Given the description of an element on the screen output the (x, y) to click on. 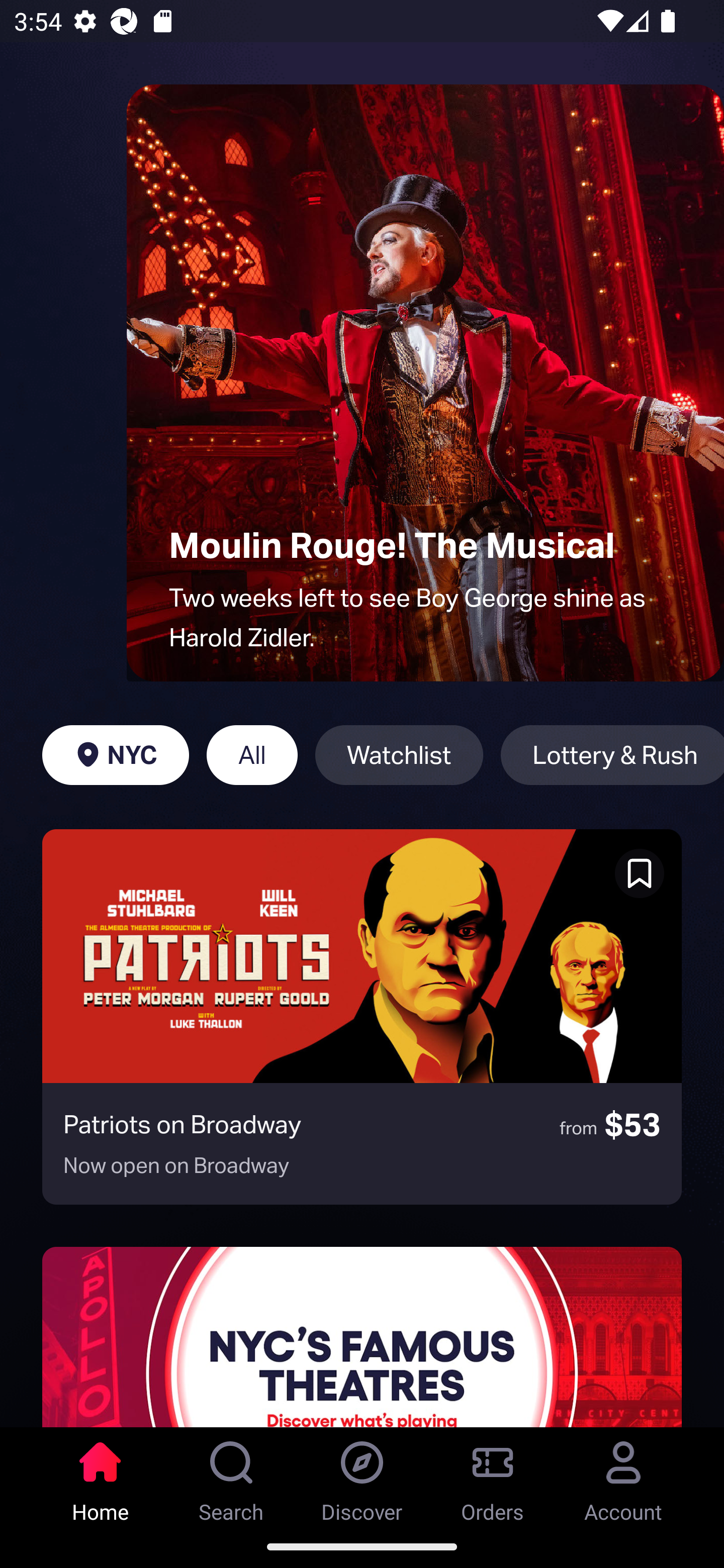
NYC (114, 754)
All (251, 754)
Watchlist (398, 754)
Lottery & Rush (612, 754)
Patriots on Broadway from $53 Now open on Broadway (361, 1016)
Search (230, 1475)
Discover (361, 1475)
Orders (492, 1475)
Account (623, 1475)
